Given the description of an element on the screen output the (x, y) to click on. 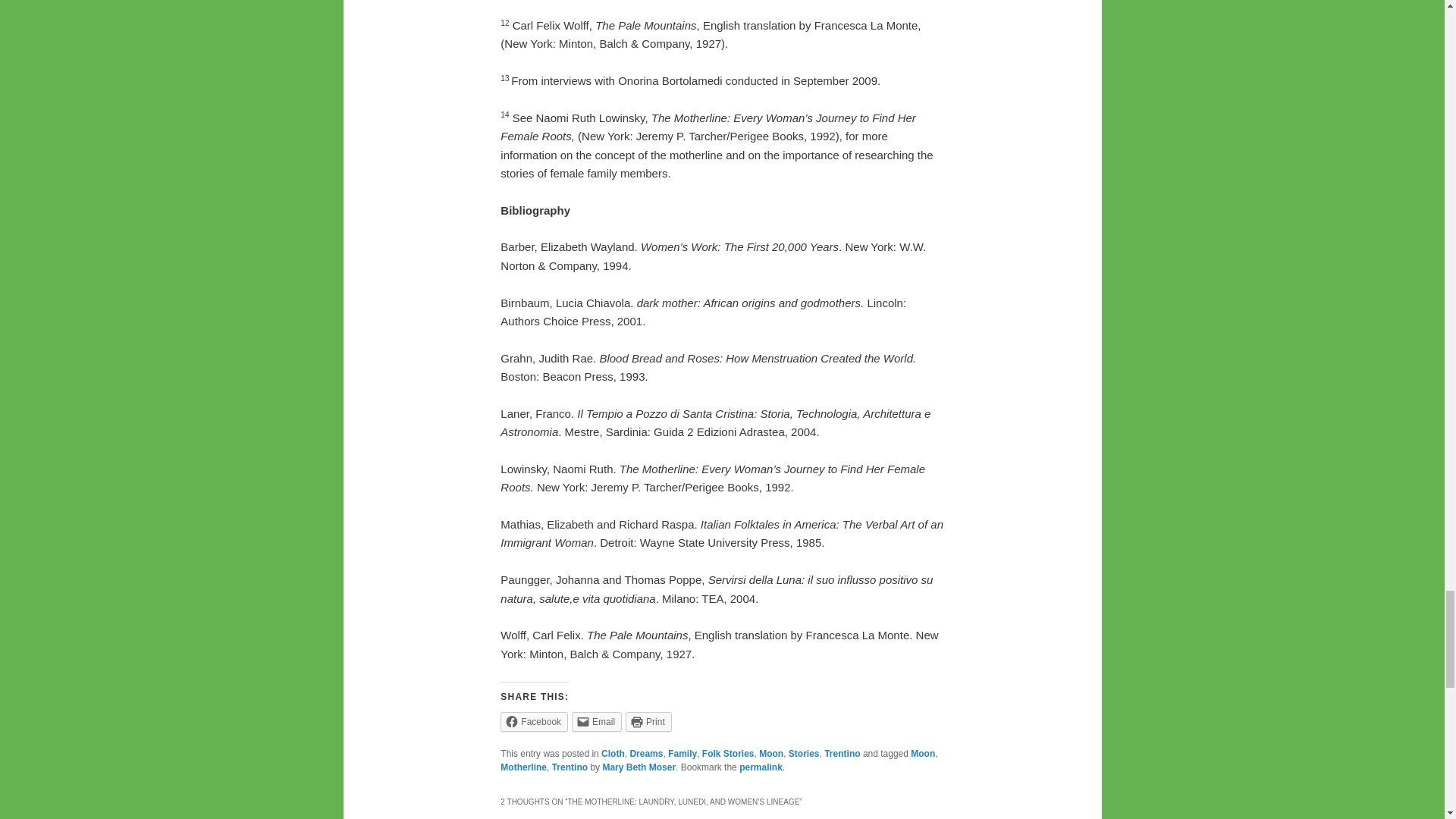
Moon (922, 753)
Print (648, 721)
Click to email a link to a friend (596, 721)
Stories (804, 753)
Dreams (645, 753)
Facebook (533, 721)
Mary Beth Moser (638, 767)
Trentino (569, 767)
Click to share on Facebook (533, 721)
Folk Stories (727, 753)
Click to print (648, 721)
Moon (770, 753)
permalink (761, 767)
Cloth (612, 753)
Family (682, 753)
